Given the description of an element on the screen output the (x, y) to click on. 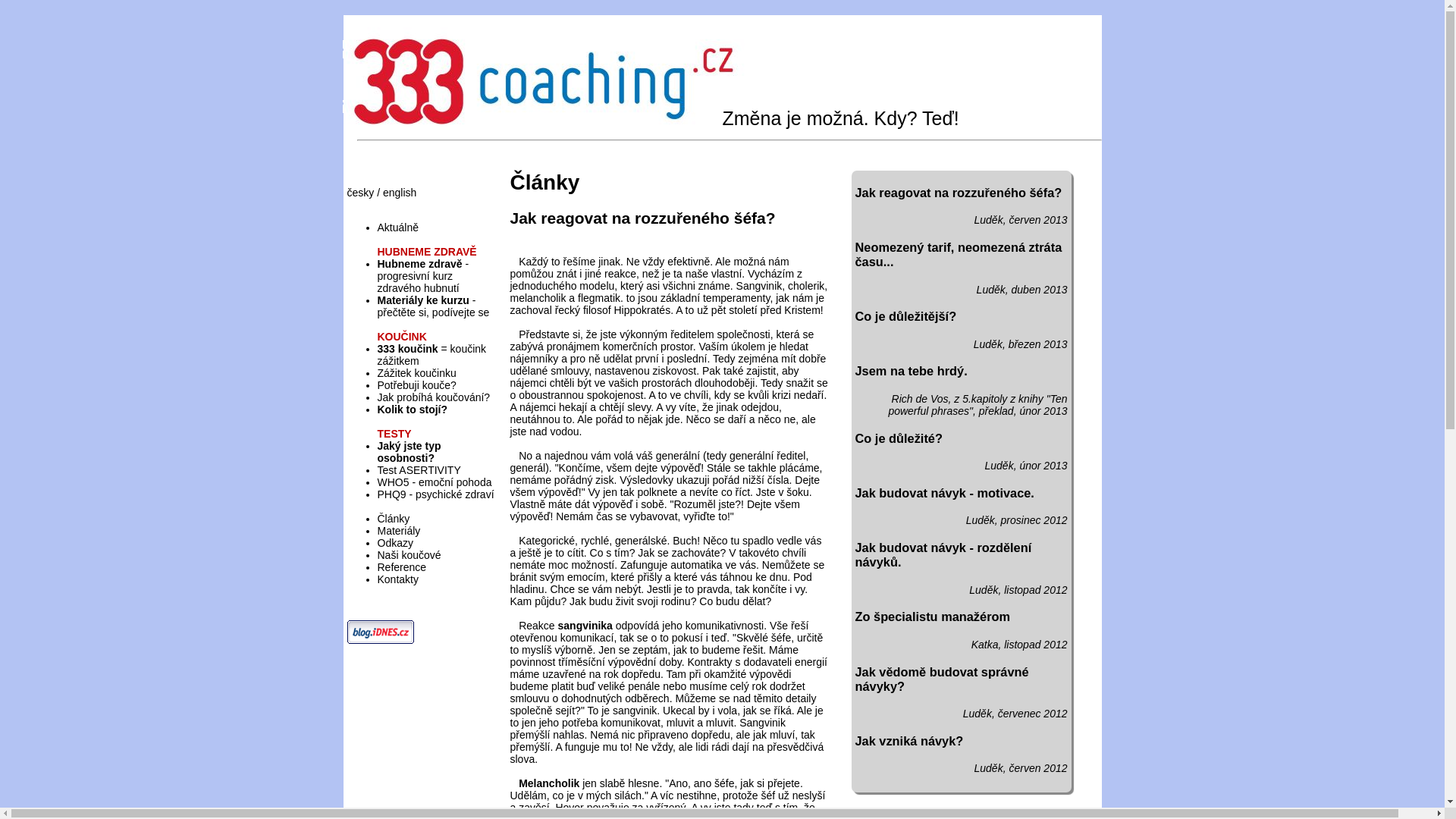
Test ASERTIVITY Element type: text (419, 470)
english Element type: text (399, 192)
Reference Element type: text (401, 567)
Odkazy Element type: text (395, 542)
Kontakty Element type: text (397, 579)
